Given the description of an element on the screen output the (x, y) to click on. 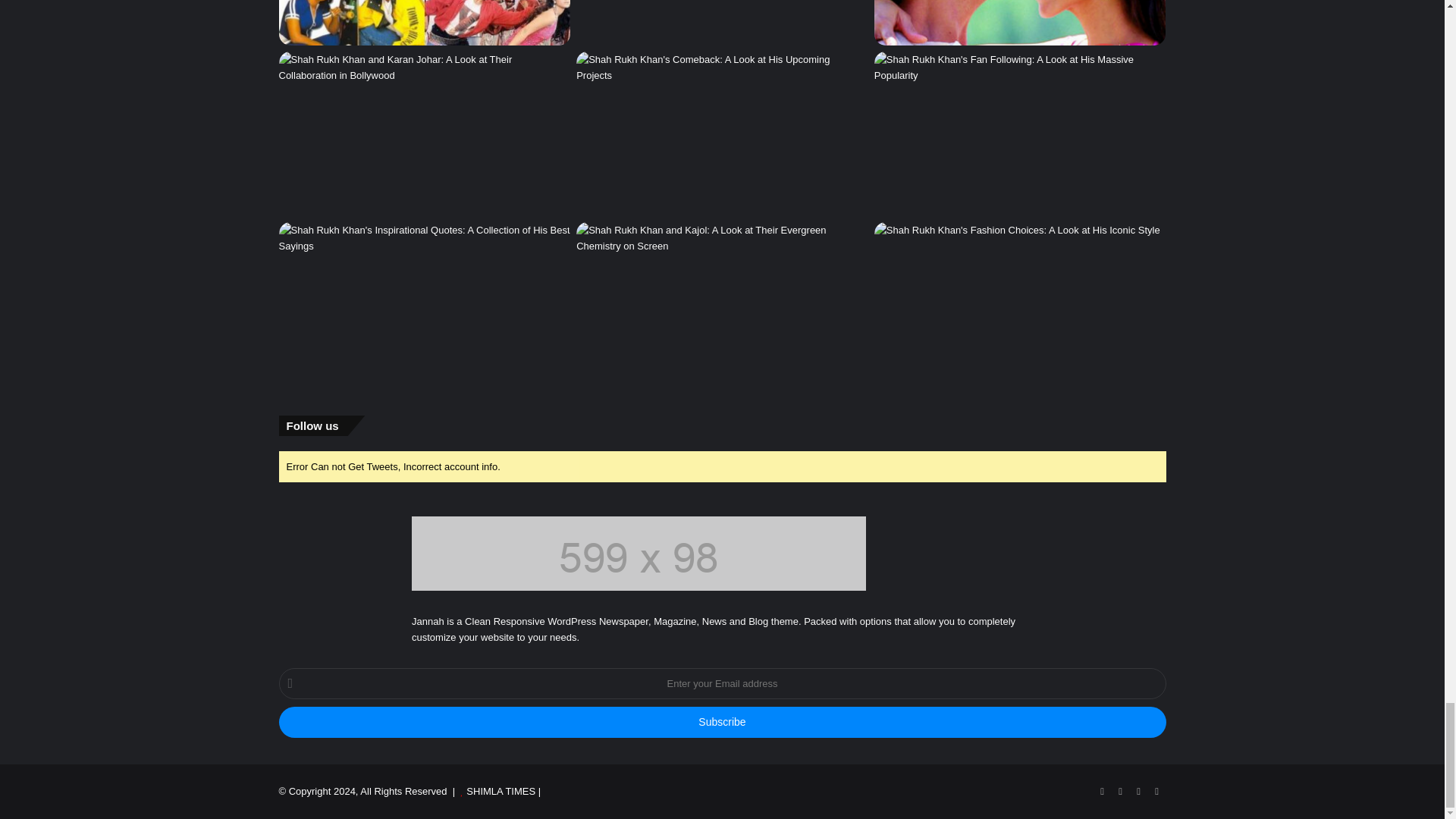
Subscribe (722, 721)
